Given the description of an element on the screen output the (x, y) to click on. 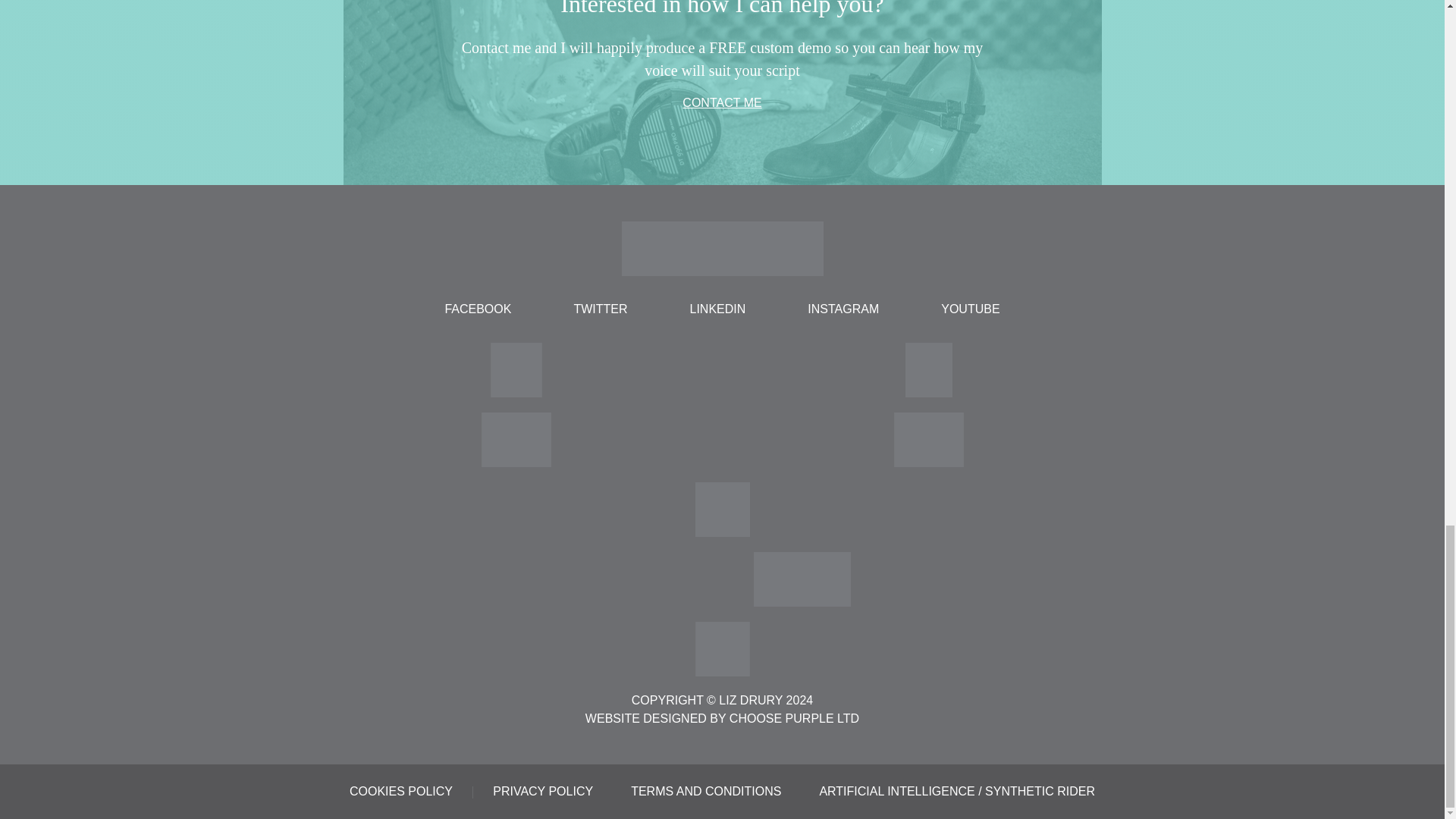
INSTAGRAM (842, 309)
PRIVACY POLICY (542, 790)
TERMS AND CONDITIONS (705, 790)
FACEBOOK (477, 309)
YOUTUBE (969, 309)
COOKIES POLICY (400, 790)
CHOOSE PURPLE LTD (794, 717)
TWITTER (599, 309)
LINKEDIN (718, 309)
CONTACT ME (721, 102)
